Given the description of an element on the screen output the (x, y) to click on. 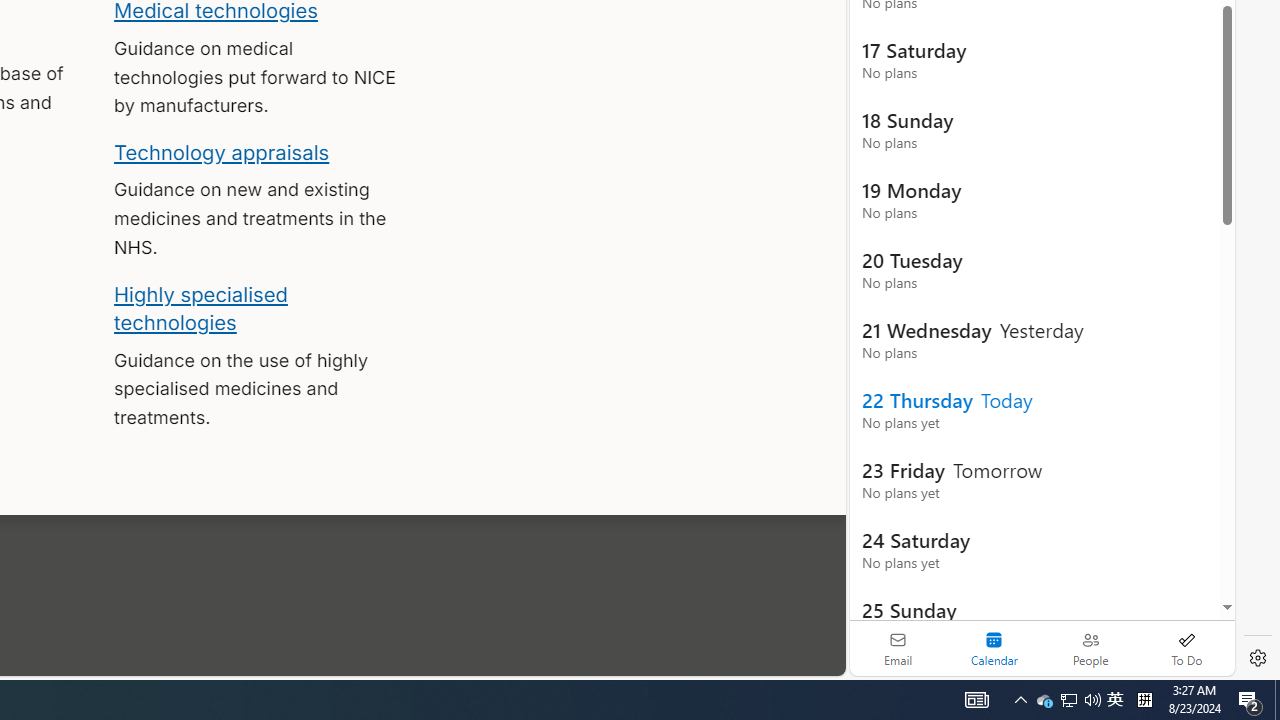
Selected calendar module. Date today is 22 (994, 648)
People (1090, 648)
Technology appraisals (221, 152)
To Do (1186, 648)
Email (898, 648)
